Given the description of an element on the screen output the (x, y) to click on. 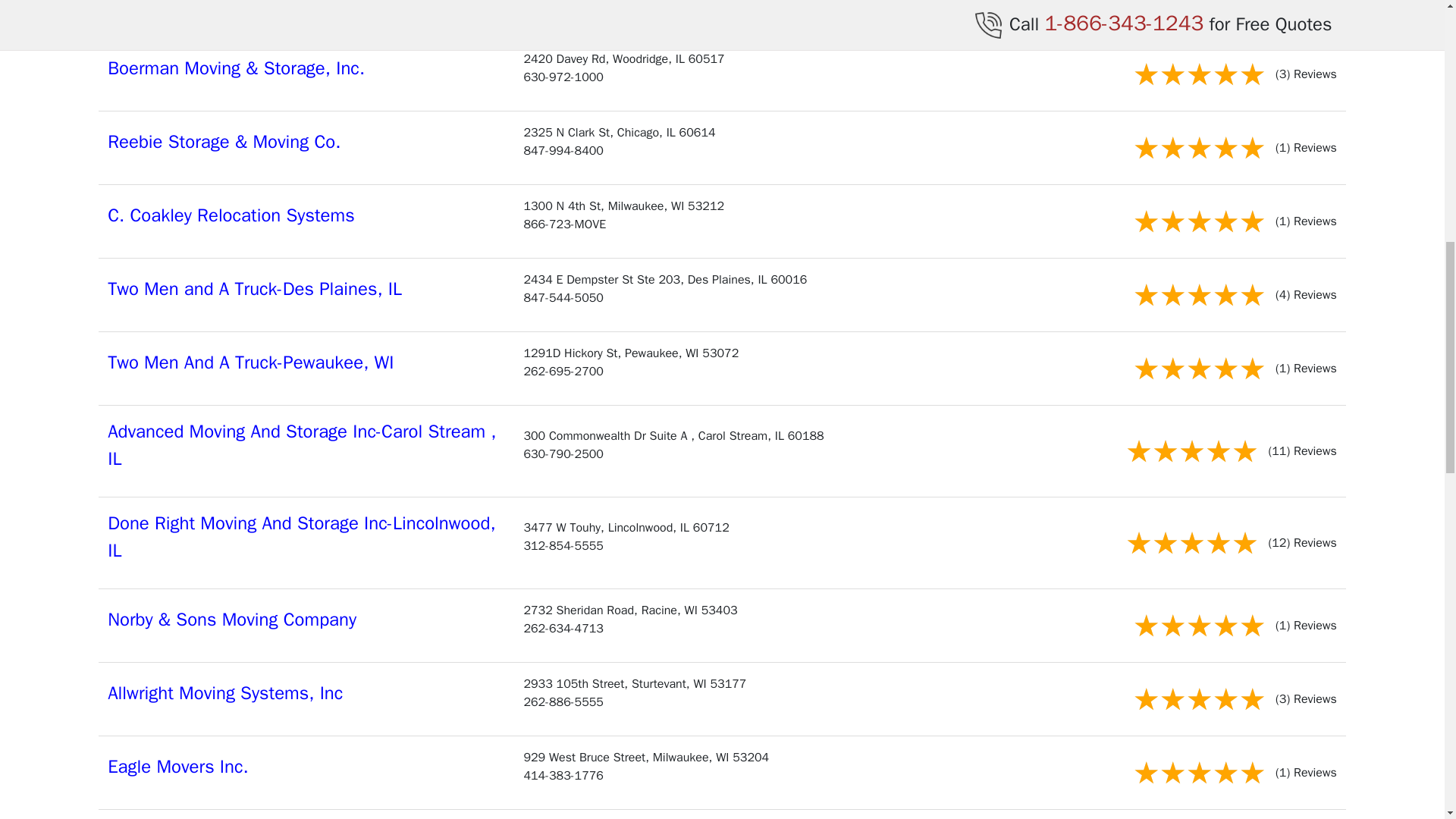
5.0 (1198, 10)
Eagle Movers Inc. (177, 766)
5.0 (1198, 368)
Done Right Moving And Storage Inc-Lincolnwood, IL (301, 536)
5.0 (1198, 74)
5.0 (1198, 772)
C. Coakley Relocation Systems (230, 214)
5.0 (1198, 699)
5.0 (1198, 626)
Aztec Moving Company (198, 2)
